Given the description of an element on the screen output the (x, y) to click on. 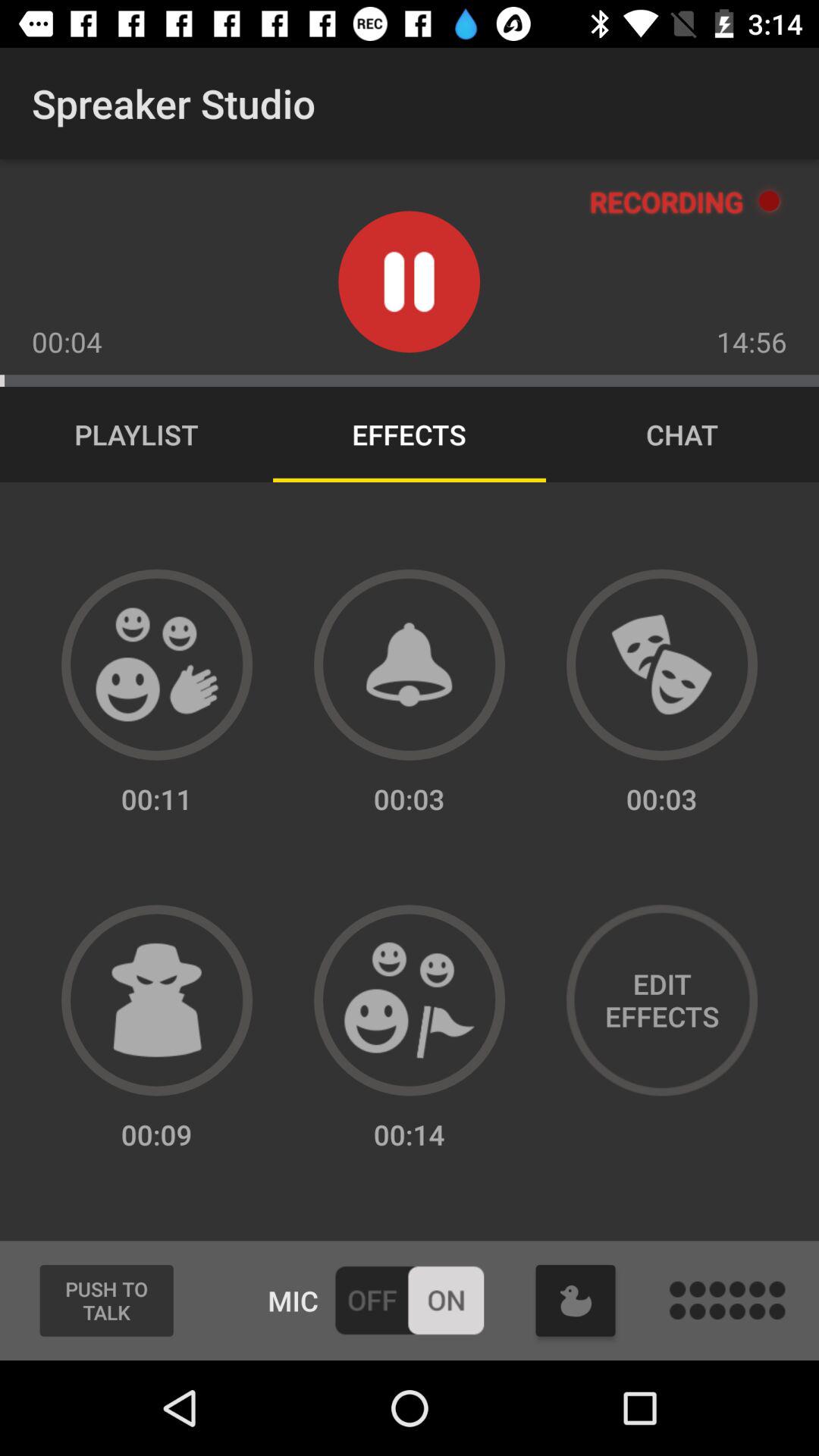
toggle pause (409, 281)
